Given the description of an element on the screen output the (x, y) to click on. 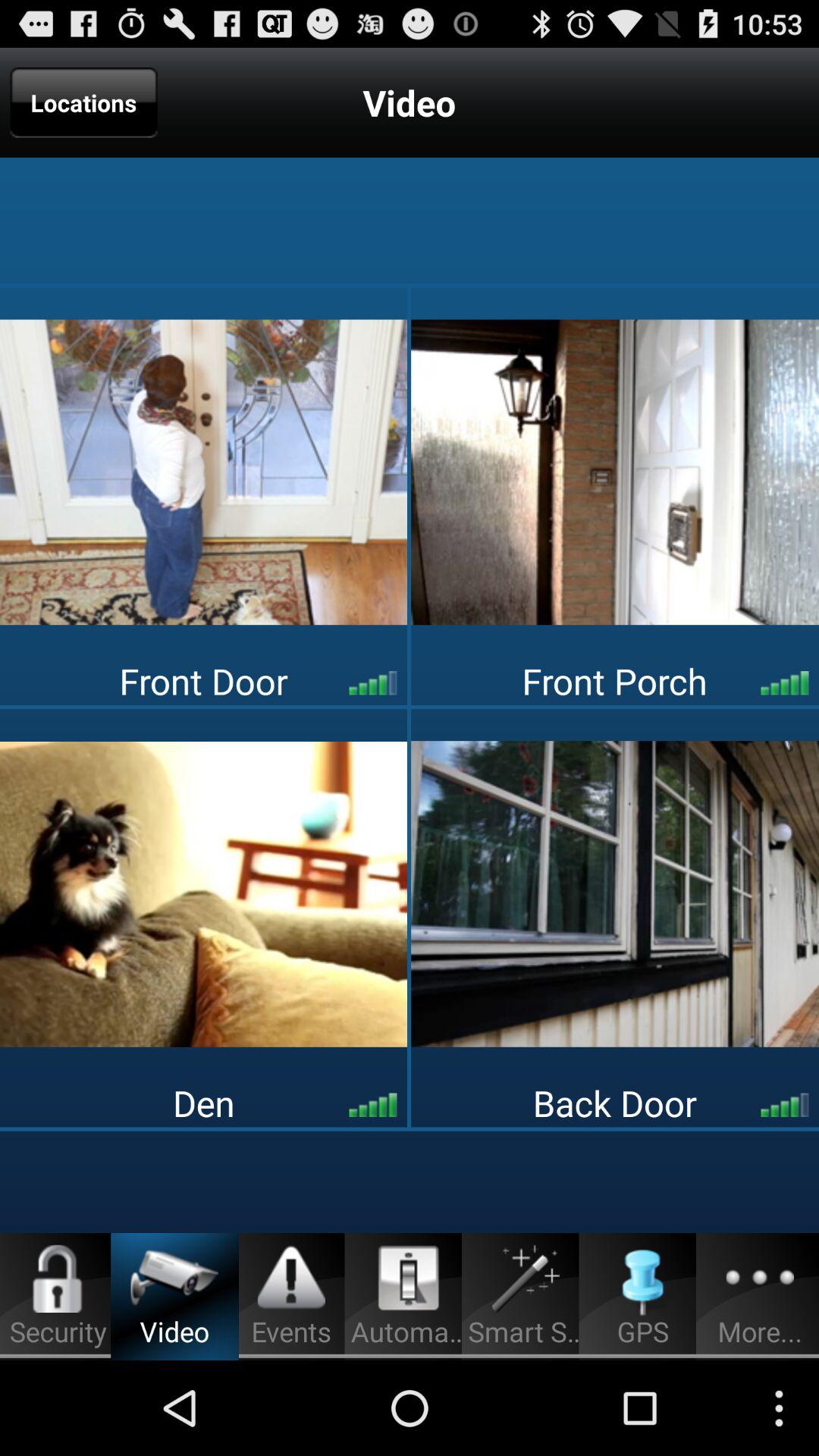
view video feed (615, 893)
